Given the description of an element on the screen output the (x, y) to click on. 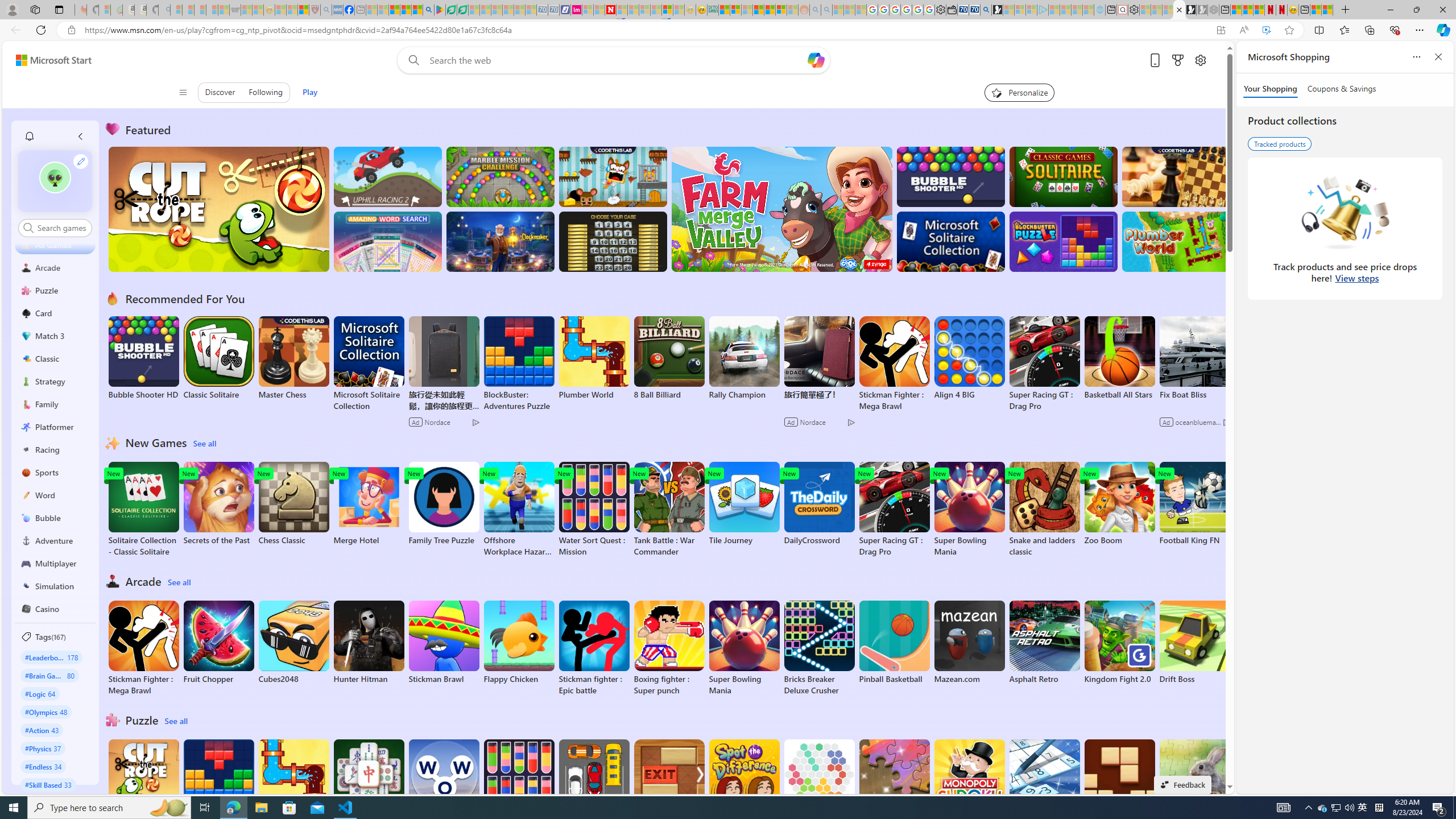
Rally Champion (744, 358)
#Skill Based 33 (47, 784)
Personalize your feed" (1019, 92)
Align 4 BIG (968, 358)
Stickman Brawl (443, 642)
